Given the description of an element on the screen output the (x, y) to click on. 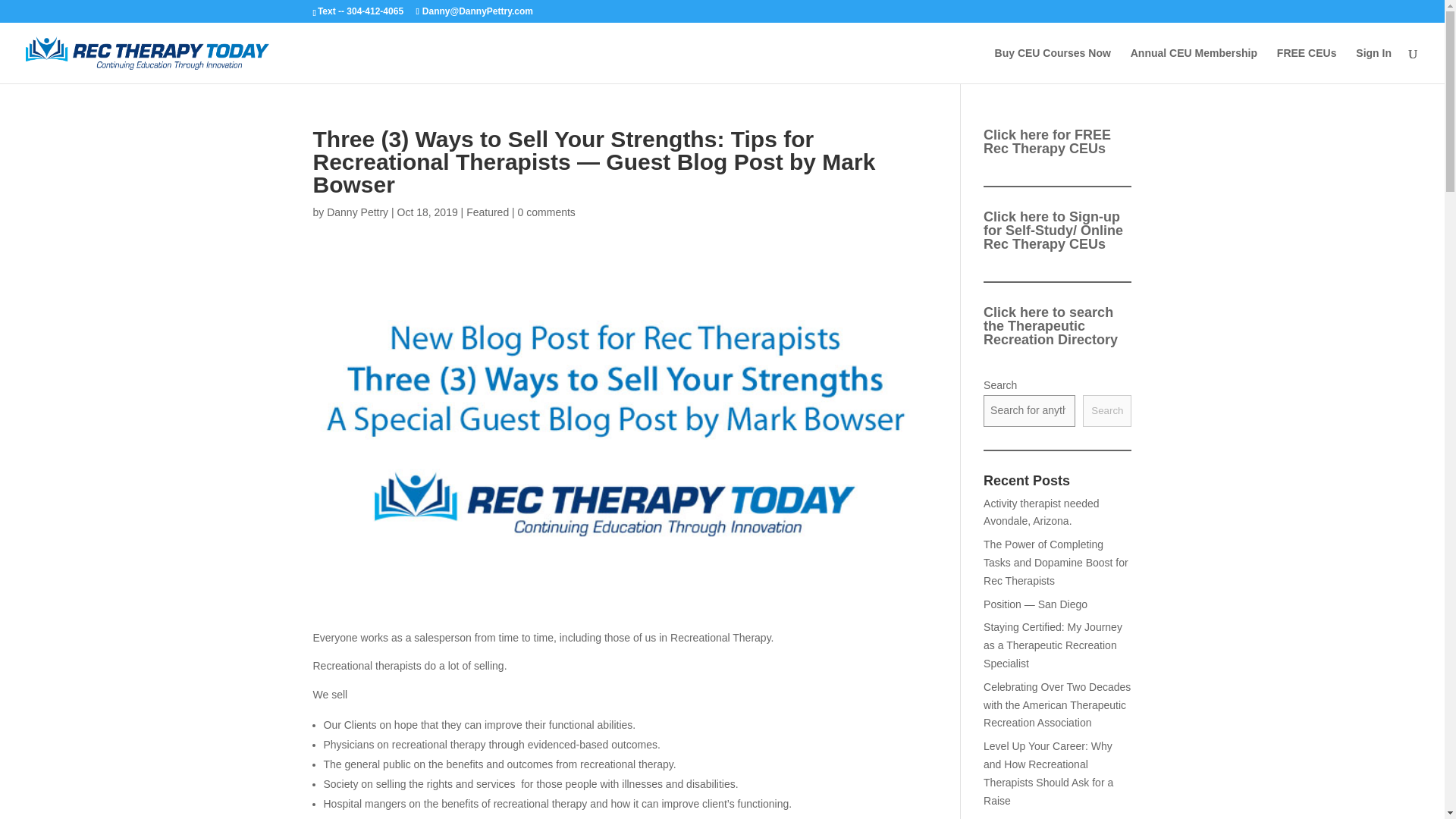
FREE CEUs (1306, 65)
Activity therapist needed Avondale, Arizona. (1041, 512)
Featured (486, 212)
Sign In (1373, 65)
Click here for FREE Rec Therapy CEUs (1047, 141)
Click here to search the Therapeutic Recreation Directory (1051, 325)
Search (1107, 410)
